Given the description of an element on the screen output the (x, y) to click on. 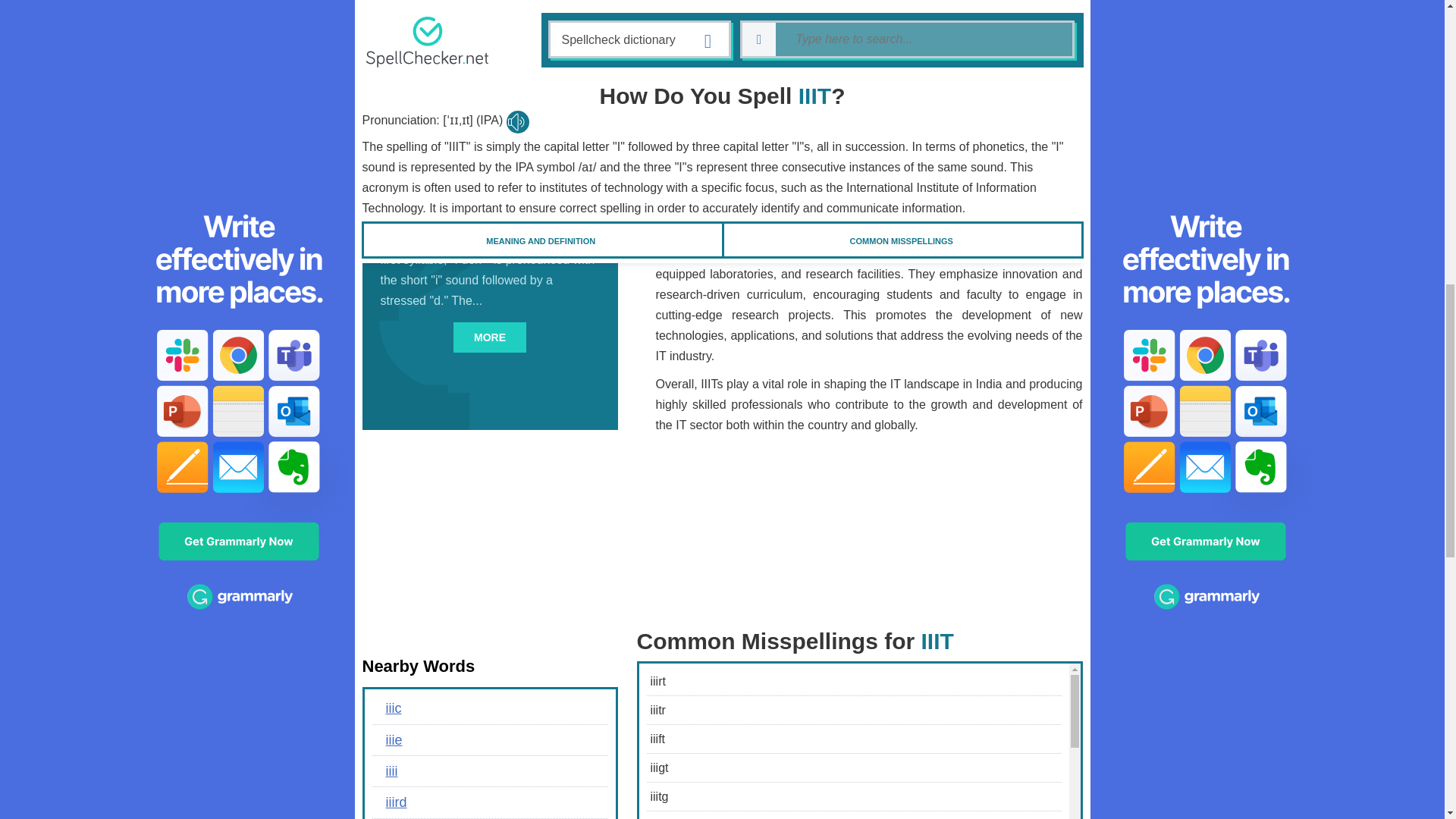
iiic (489, 707)
iiii (489, 770)
iiie (489, 739)
MORE (488, 337)
iiird (489, 802)
